Given the description of an element on the screen output the (x, y) to click on. 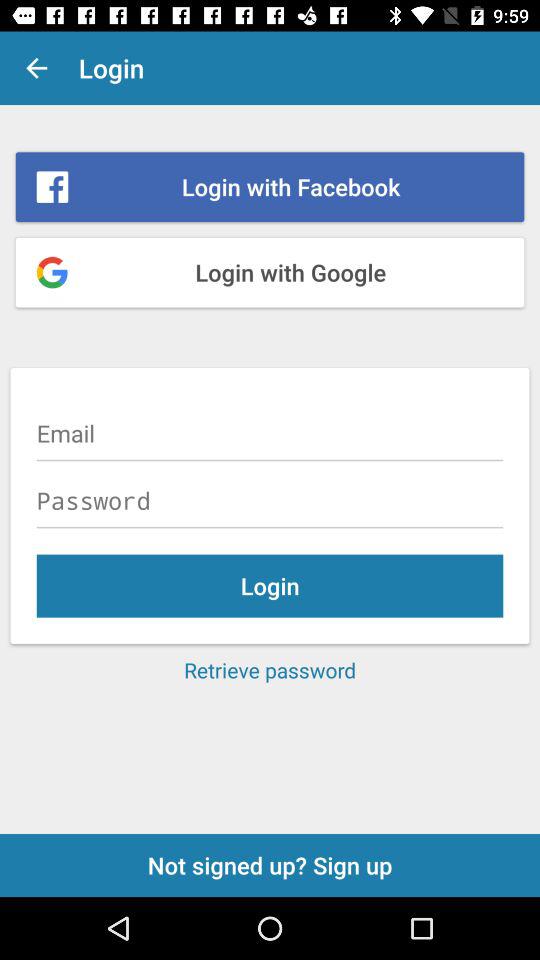
email (269, 433)
